Given the description of an element on the screen output the (x, y) to click on. 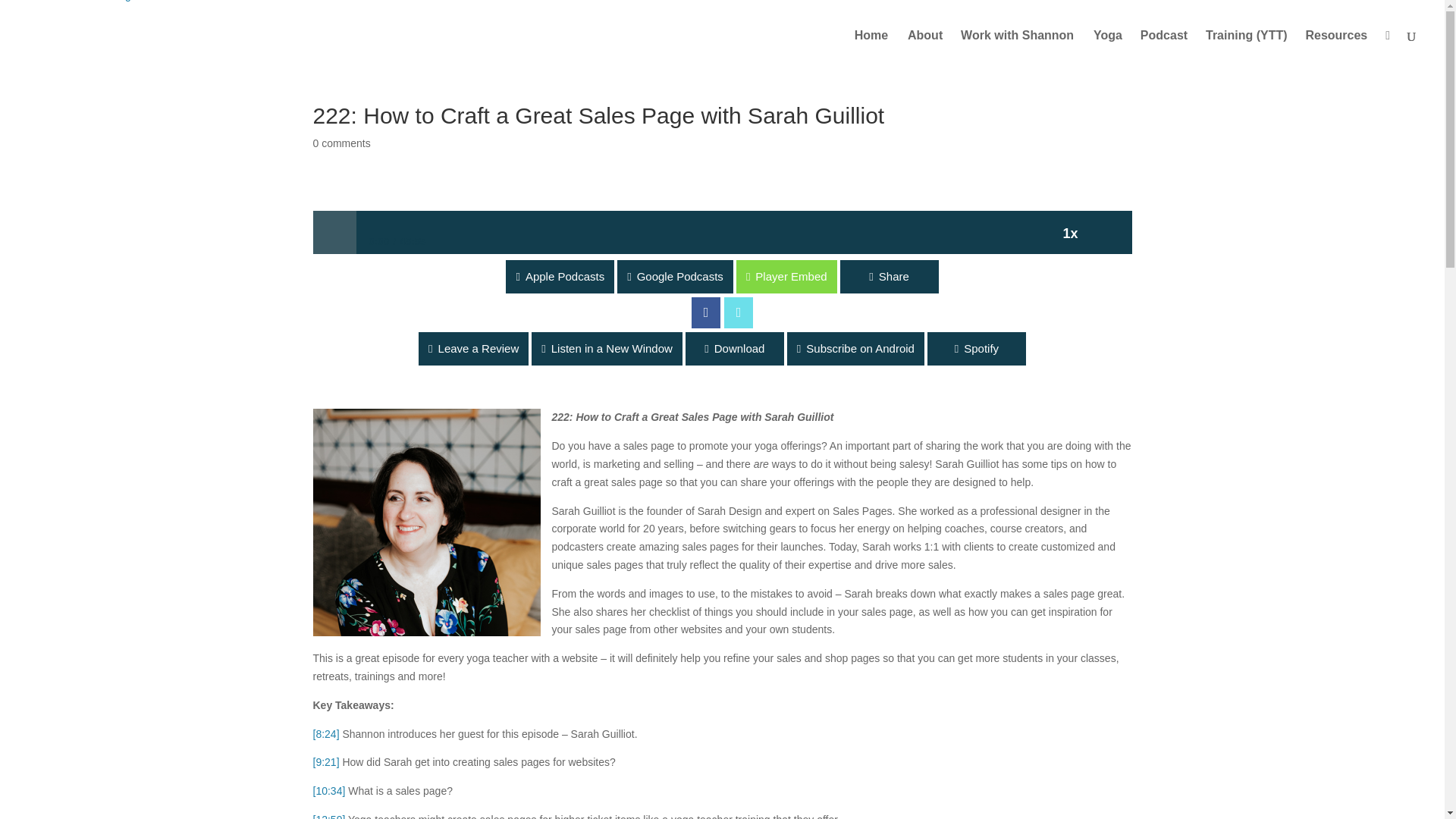
Apple Podcasts (611, 276)
About (932, 50)
Player Embed (50, 276)
Work with Shannon (1017, 50)
0 comments (341, 143)
Yoga (1115, 50)
Share (889, 276)
Share on Twitter (737, 312)
Google Podcasts (726, 276)
Resources (1342, 50)
Podcast (1171, 50)
Share on Facebook (705, 312)
